Given the description of an element on the screen output the (x, y) to click on. 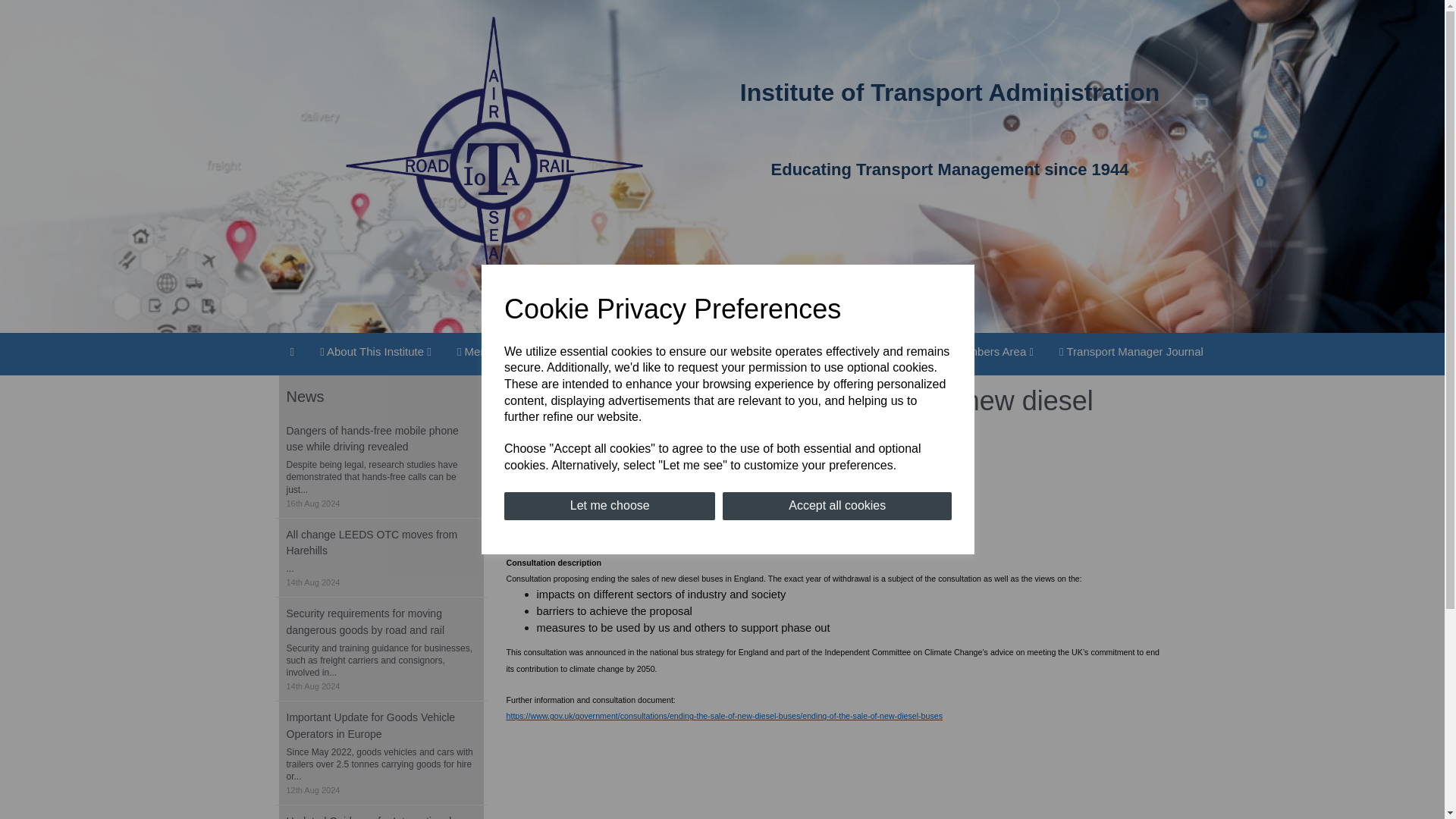
News (577, 351)
Transport Manager Journal (1131, 351)
Membership (495, 351)
About This Institute (375, 351)
Accept all cookies (837, 506)
Training Courses (668, 351)
Patrons (895, 351)
Let me choose (608, 506)
Members Area (989, 351)
